Given the description of an element on the screen output the (x, y) to click on. 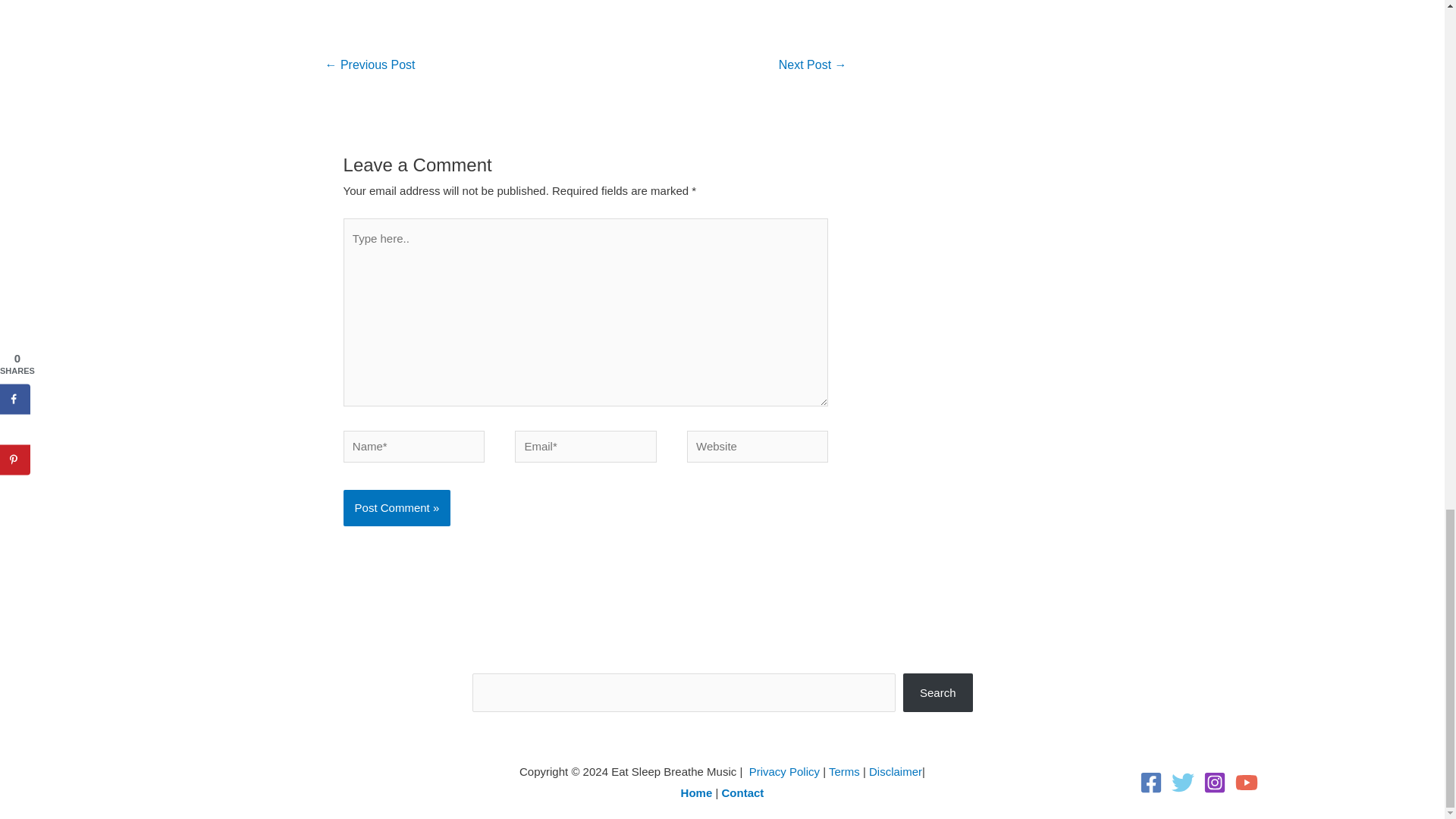
Lady Gaga Partners With Poloroid (368, 66)
